Given the description of an element on the screen output the (x, y) to click on. 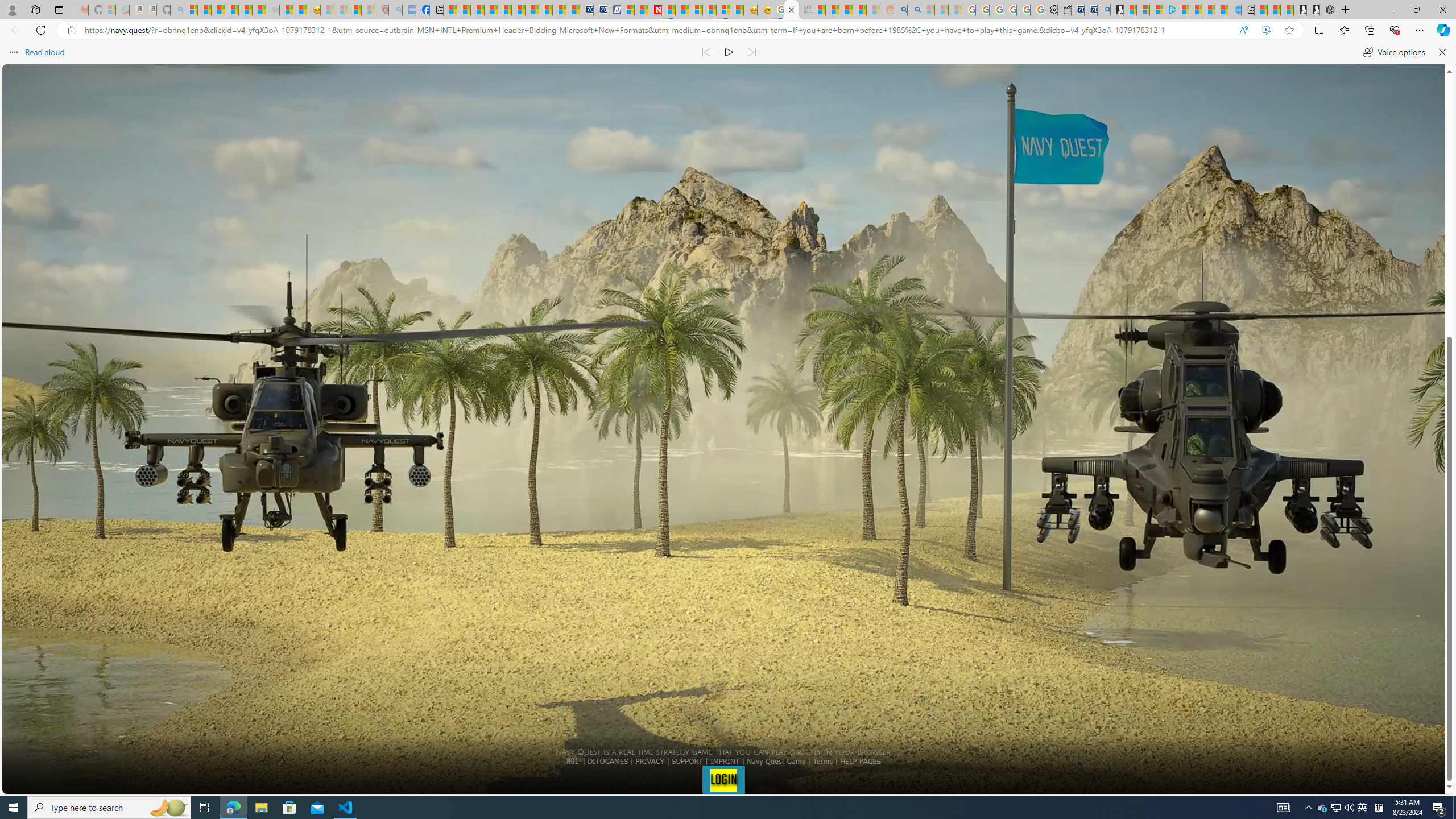
HELP PAGES (860, 760)
PRIVACY (649, 760)
